Given the description of an element on the screen output the (x, y) to click on. 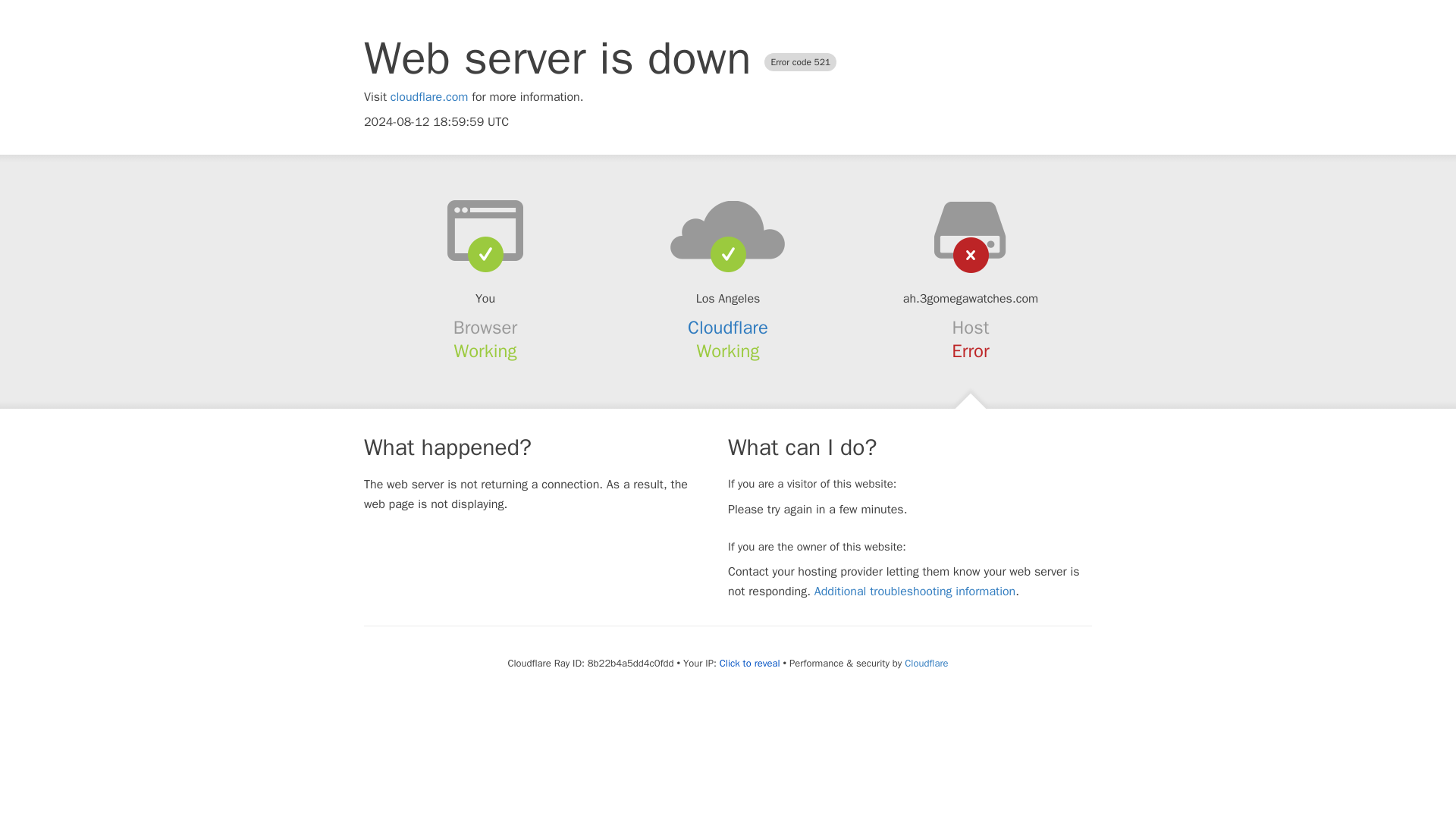
Click to reveal (749, 663)
Additional troubleshooting information (913, 590)
cloudflare.com (429, 96)
Cloudflare (727, 327)
Cloudflare (925, 662)
